Given the description of an element on the screen output the (x, y) to click on. 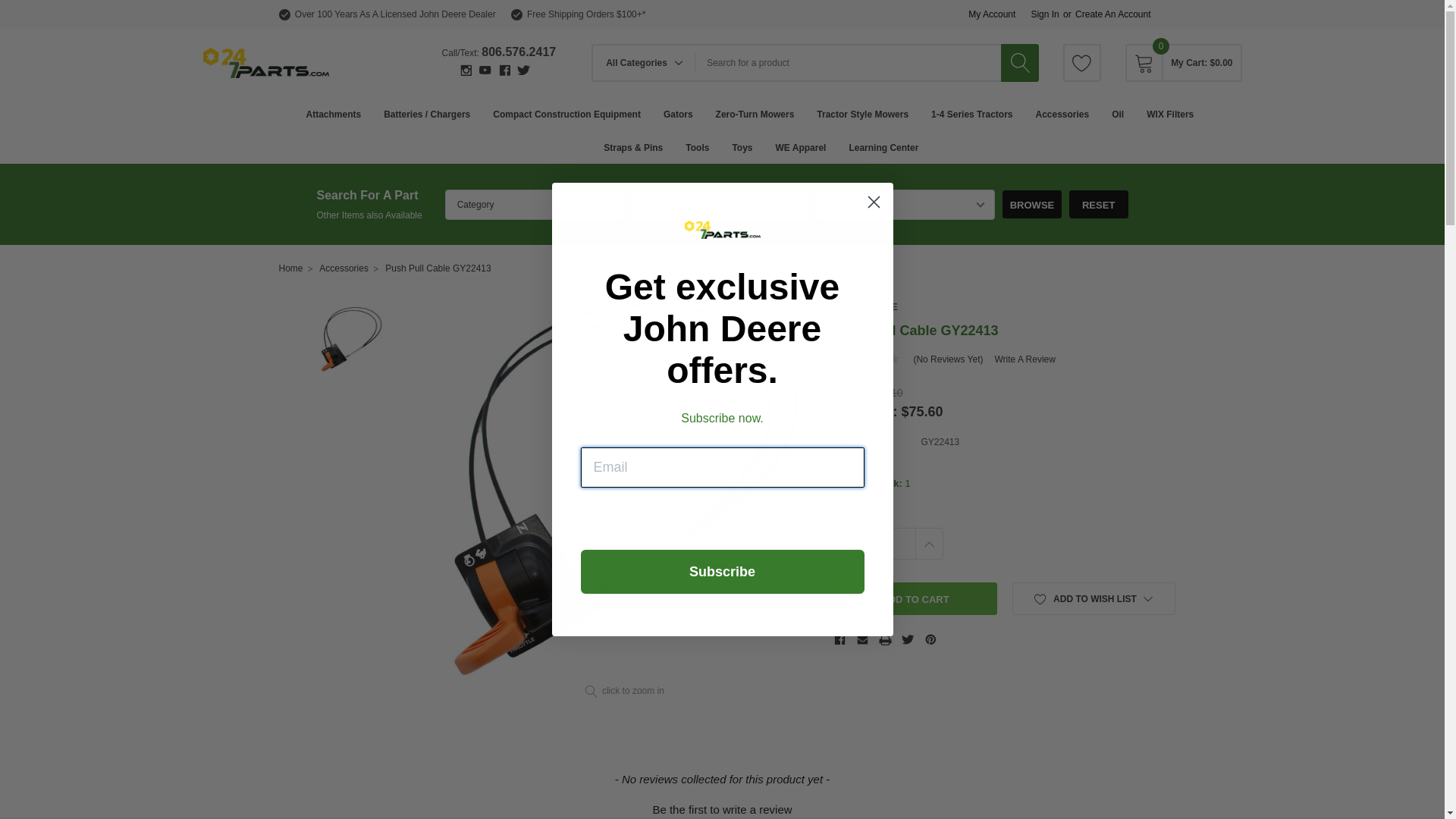
RESET Element type: text (1098, 204)
Push Pull Cable GY22413 Element type: hover (350, 339)
Accessories Element type: text (1061, 113)
Write A Review Element type: text (1024, 359)
INCREASE QUANTITY: Element type: text (927, 543)
JOHN DEERE Element type: text (866, 306)
Straps & Pins Element type: text (632, 146)
Compact Construction Equipment Element type: text (566, 113)
Sign In Element type: text (1044, 14)
Tools Element type: text (697, 146)
Push Pull Cable GY22413 Element type: hover (624, 489)
login Element type: text (1144, 309)
Batteries / Chargers Element type: text (426, 113)
Tractor Style Mowers Element type: text (862, 113)
247parts.com Element type: hover (266, 62)
Accessories Element type: text (343, 268)
806.576.2417 Element type: text (518, 51)
Over 100 Years As A Licensed John Deere Dealer Element type: text (394, 14)
Home Element type: text (291, 268)
My Account Element type: text (991, 14)
Oil Element type: text (1117, 113)
Push Pull Cable GY22413 Element type: text (437, 268)
DECREASE QUANTITY: Element type: text (847, 543)
ADD TO WISH LIST Element type: text (1092, 598)
Zero-Turn Mowers Element type: text (754, 113)
Add to Cart Element type: text (915, 598)
Subscribe Element type: text (722, 571)
Toys Element type: text (741, 146)
Gators Element type: text (678, 113)
Create An Account Element type: text (1112, 14)
Learning Center Element type: text (883, 146)
Attachments Element type: text (332, 113)
BROWSE Element type: text (1031, 204)
WE Apparel Element type: text (800, 146)
0 Element type: text (1144, 62)
Submit Element type: text (25, 9)
Free Shipping Orders $100+* Element type: text (586, 14)
WIX Filters Element type: text (1169, 113)
1-4 Series Tractors Element type: text (971, 113)
